Given the description of an element on the screen output the (x, y) to click on. 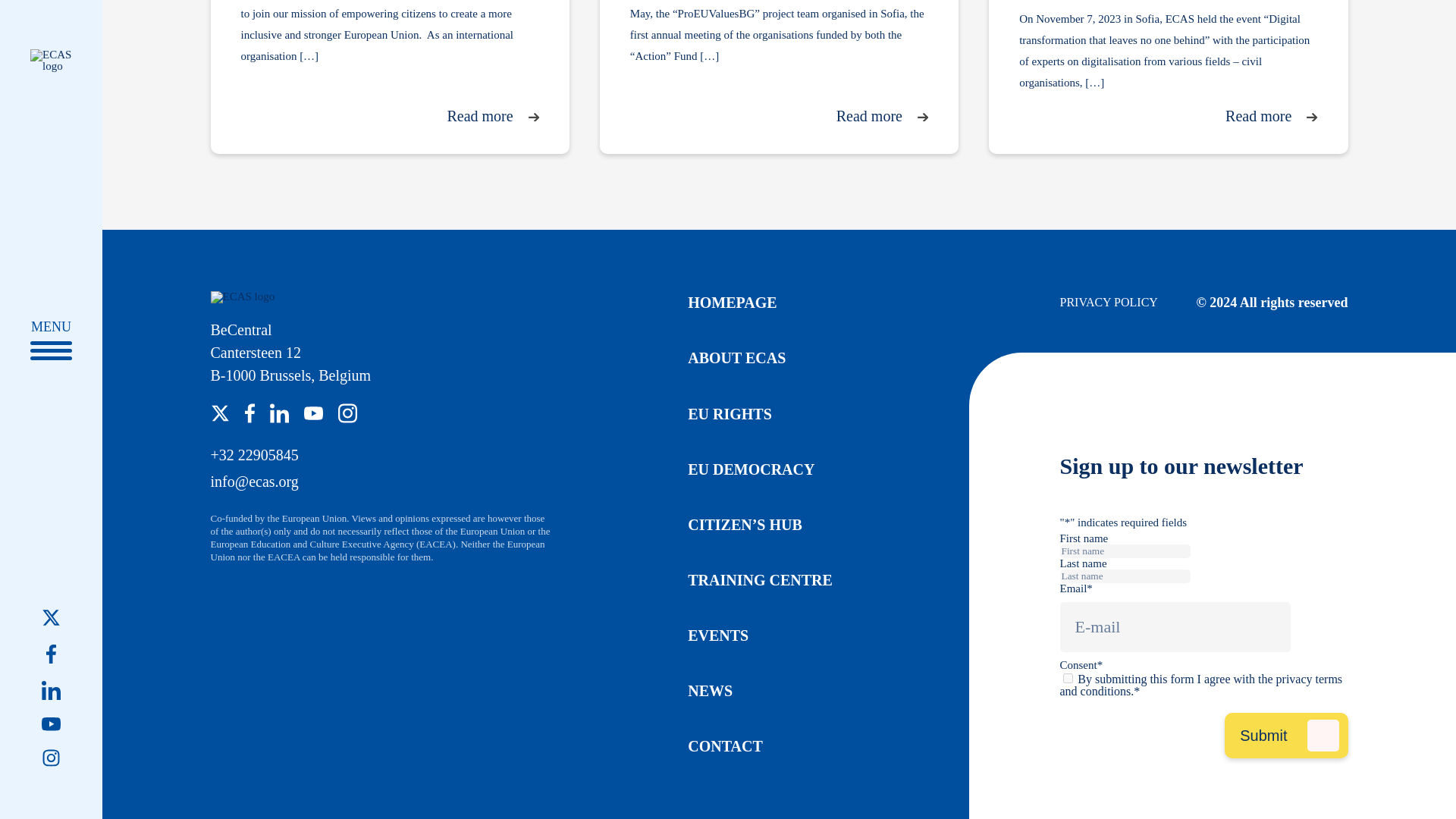
1 (1067, 678)
Submit (1286, 735)
